Given the description of an element on the screen output the (x, y) to click on. 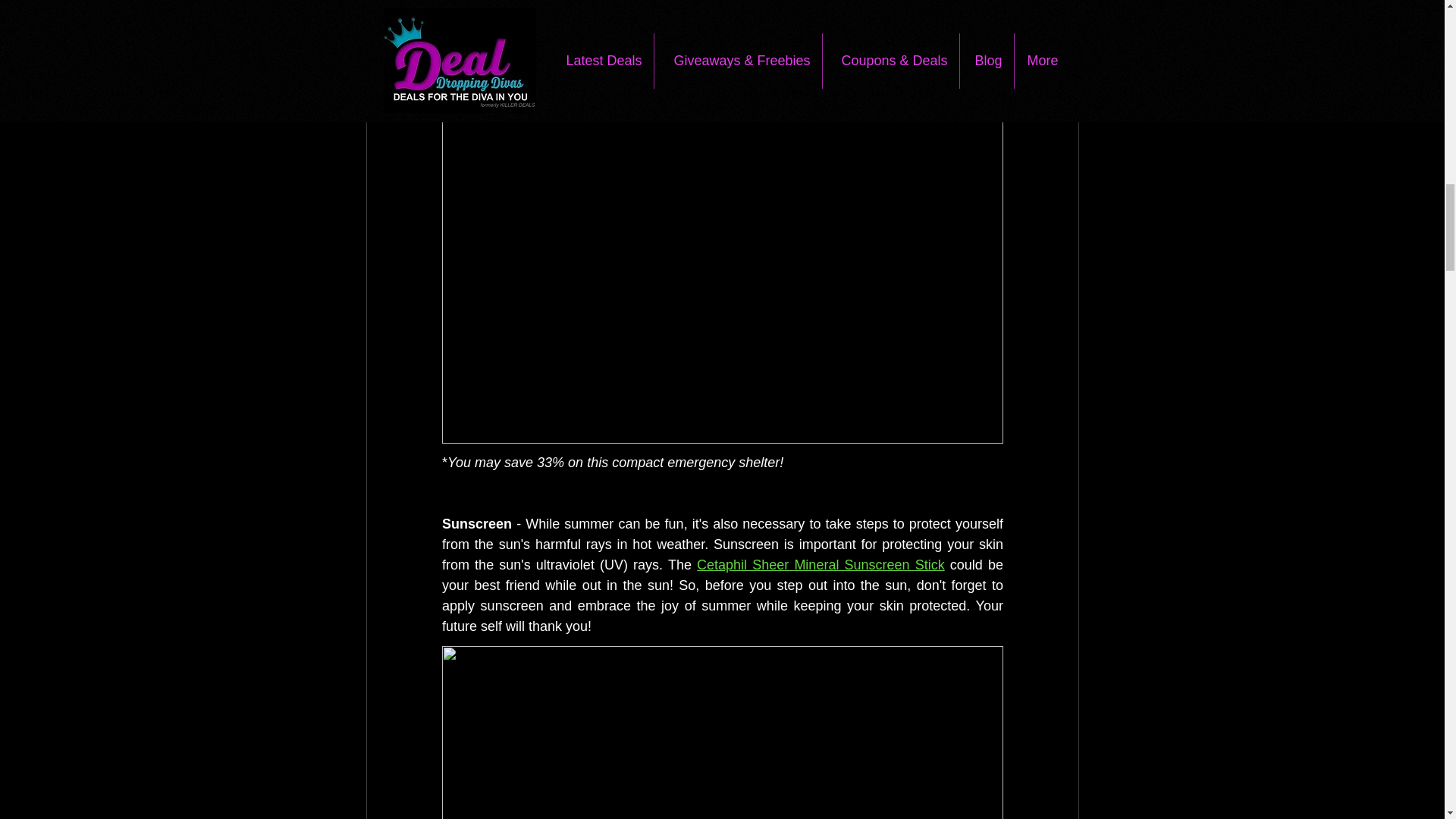
Cetaphil Sheer Mineral Sunscreen Stick (820, 564)
